Given the description of an element on the screen output the (x, y) to click on. 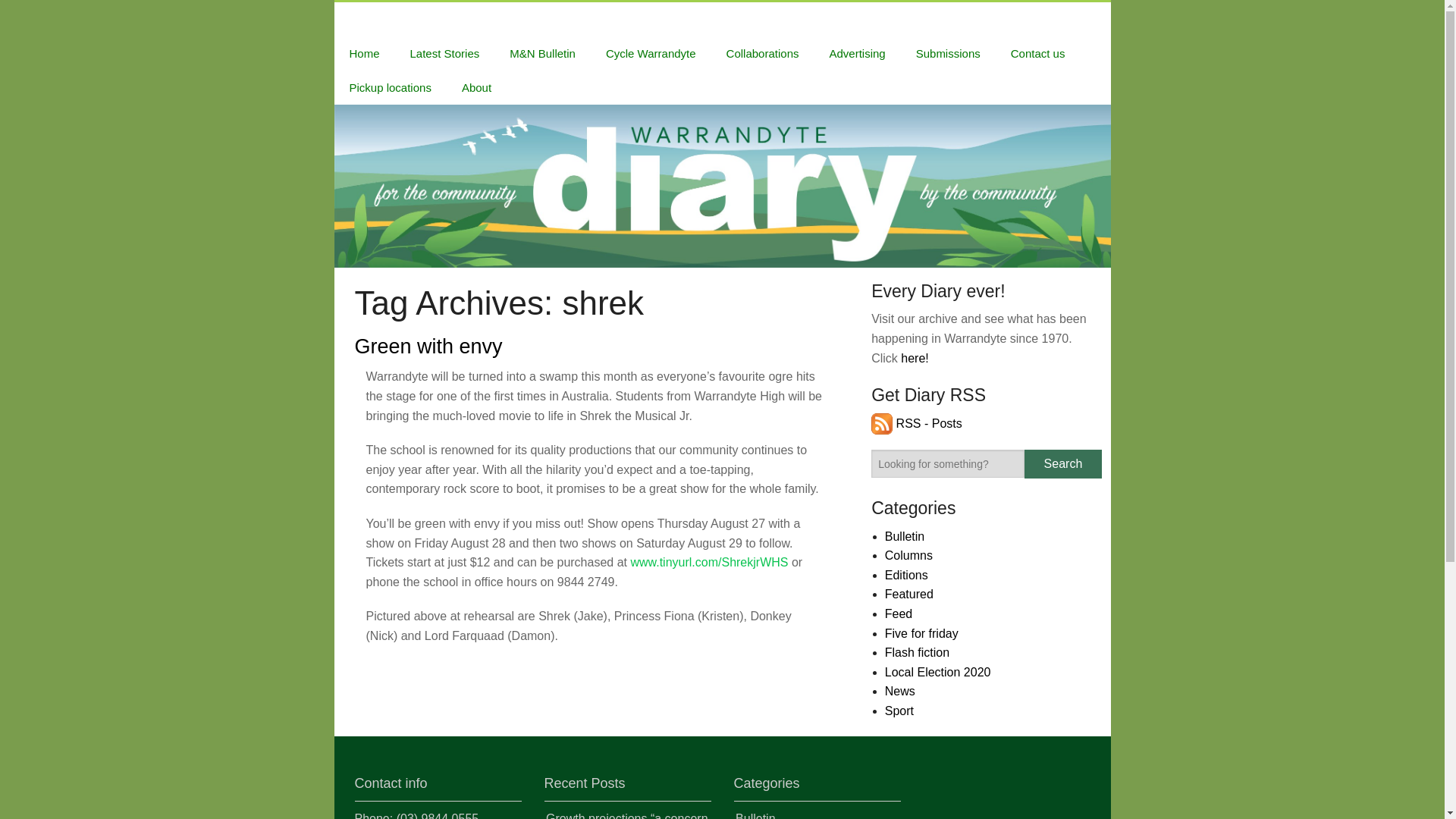
Bulletin (904, 535)
Latest Stories (445, 53)
Editions (906, 574)
Local Election 2020 (938, 671)
Collaborations (762, 53)
Contact us (1037, 53)
Search (1062, 463)
Featured (909, 594)
Pickup locations (389, 87)
About (475, 87)
Advertising (856, 53)
Sport (899, 710)
Home (364, 53)
News (900, 690)
Five for friday (921, 633)
